Given the description of an element on the screen output the (x, y) to click on. 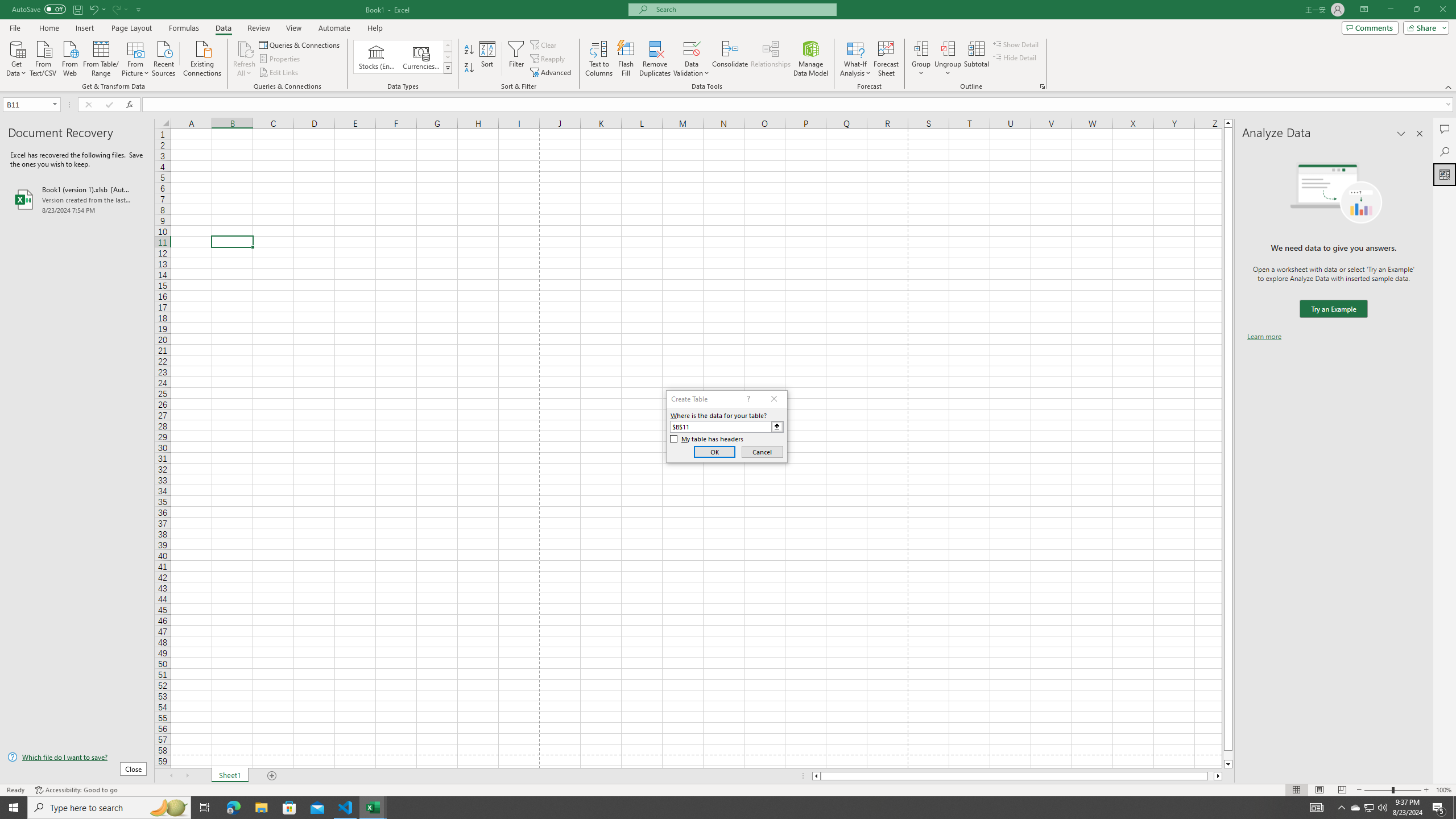
Forecast Sheet (885, 58)
Page down (1228, 755)
Advanced... (551, 72)
Row up (448, 45)
Book1 (version 1).xlsb  [AutoRecovered] (77, 199)
Refresh All (244, 58)
AutomationID: ConvertToLinkedEntity (403, 56)
Ungroup... (947, 48)
